Given the description of an element on the screen output the (x, y) to click on. 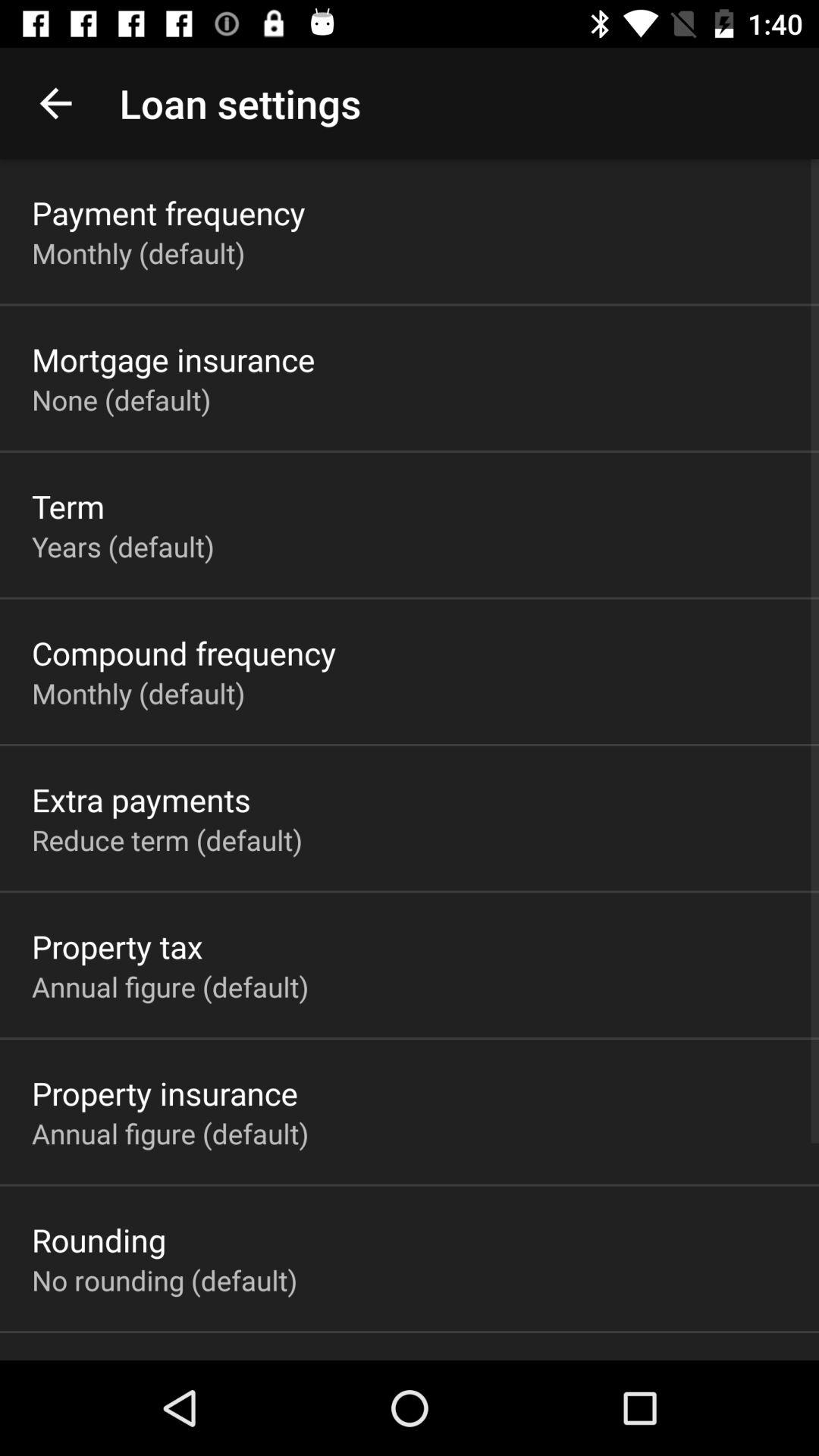
tap the reduce term (default) icon (166, 839)
